Given the description of an element on the screen output the (x, y) to click on. 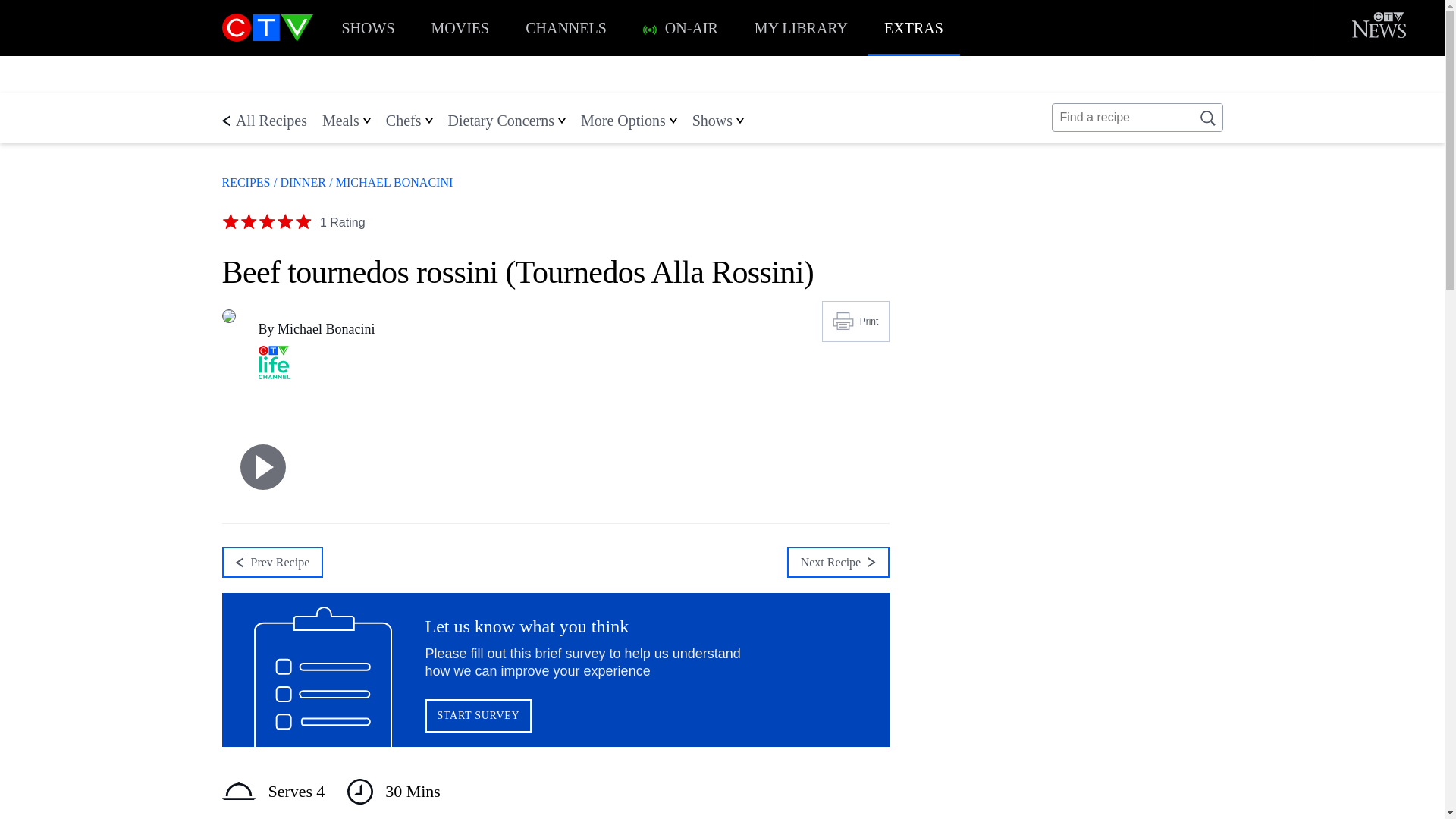
Chefs (403, 119)
Print (855, 321)
CTV Channels (565, 28)
Dietary Concerns (500, 119)
CTV Extras (913, 28)
MY LIBRARY (801, 28)
SHOWS (367, 28)
Prev Recipe (272, 562)
View All Recipes (245, 182)
Go To CTV.ca (267, 28)
CTV Shows (367, 28)
View Dinner Recipes (299, 182)
CTV My Library (801, 28)
Let us know what you think (554, 669)
